Given the description of an element on the screen output the (x, y) to click on. 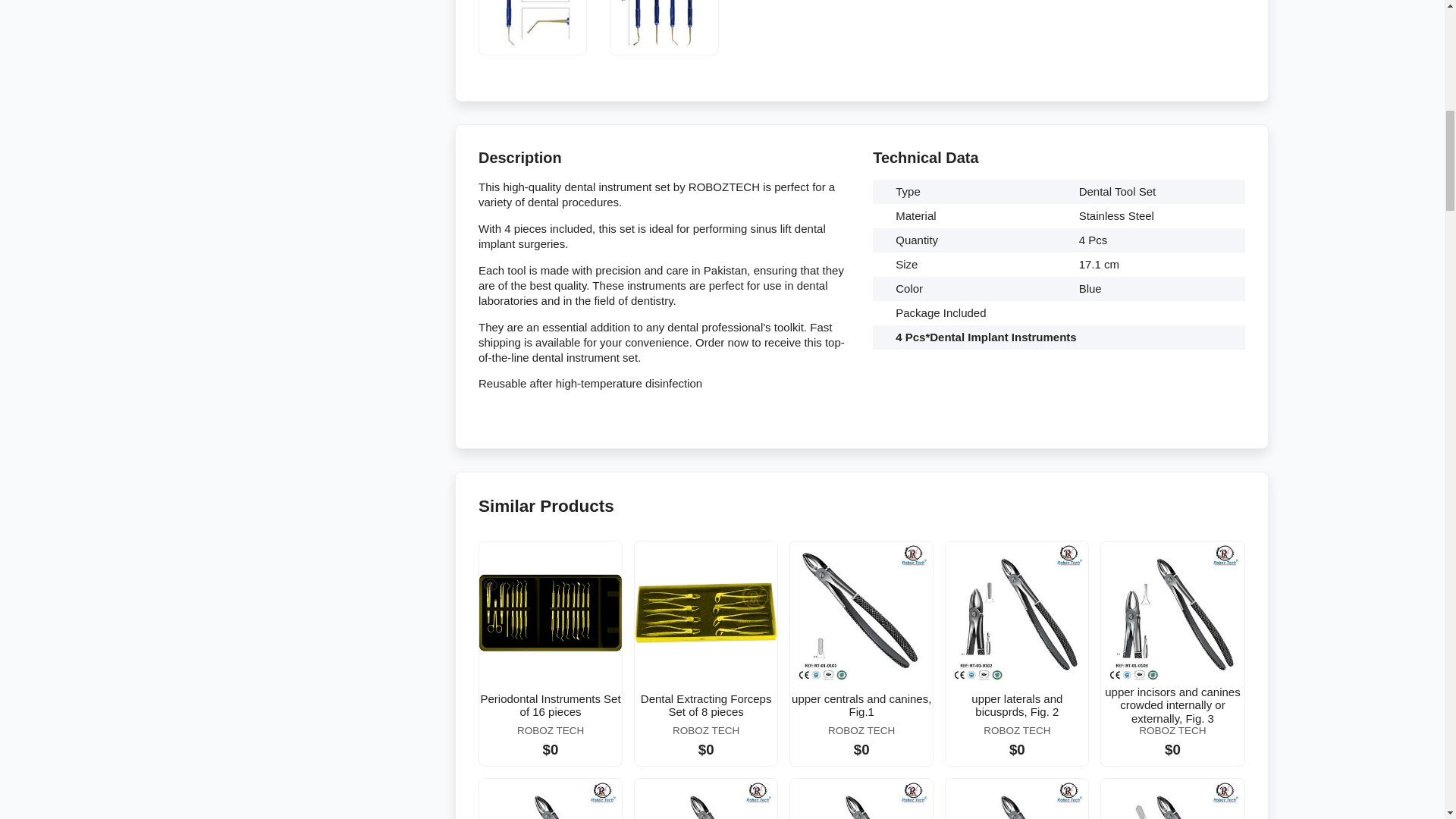
lower incisors and canines, Fig. 4 (550, 798)
Sinus Tools Implant Stoppers Sinus Lifting Elevation (532, 24)
upper bicuspids either side, Fig. 7 (705, 798)
Sinus Tools Implant Stoppers Sinus Lifting Elevation (663, 24)
